Given the description of an element on the screen output the (x, y) to click on. 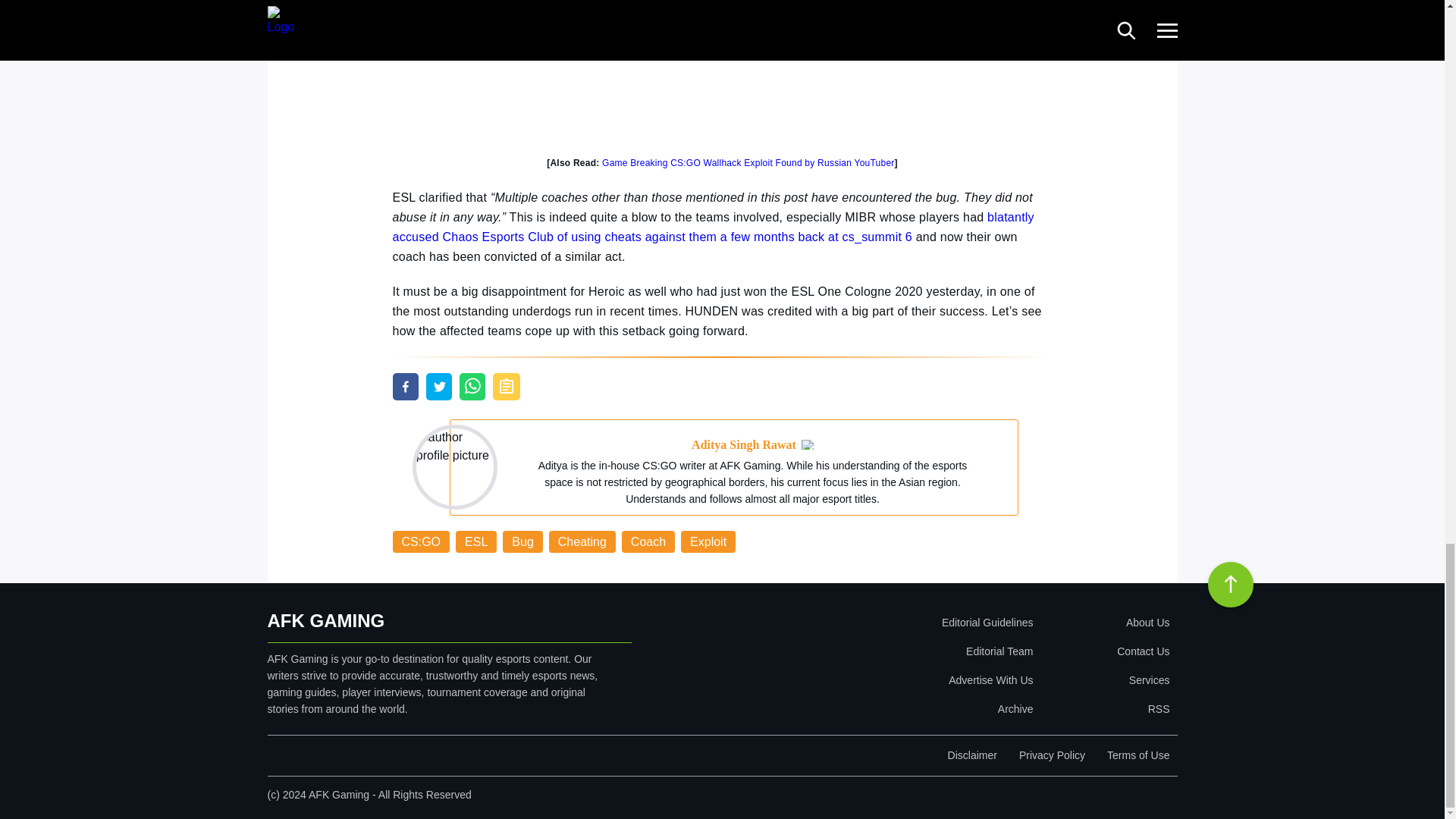
Disclaimer (972, 755)
Coach (648, 541)
About Us (1105, 622)
Aditya Singh Rawat (743, 444)
ESL (475, 541)
Editorial Team (899, 651)
CS:GO (421, 541)
Bug (521, 541)
Services (1105, 680)
Cheating (581, 541)
Editorial Guidelines (899, 622)
RSS (1105, 708)
Advertise With Us (899, 680)
Contact Us (1105, 651)
